Given the description of an element on the screen output the (x, y) to click on. 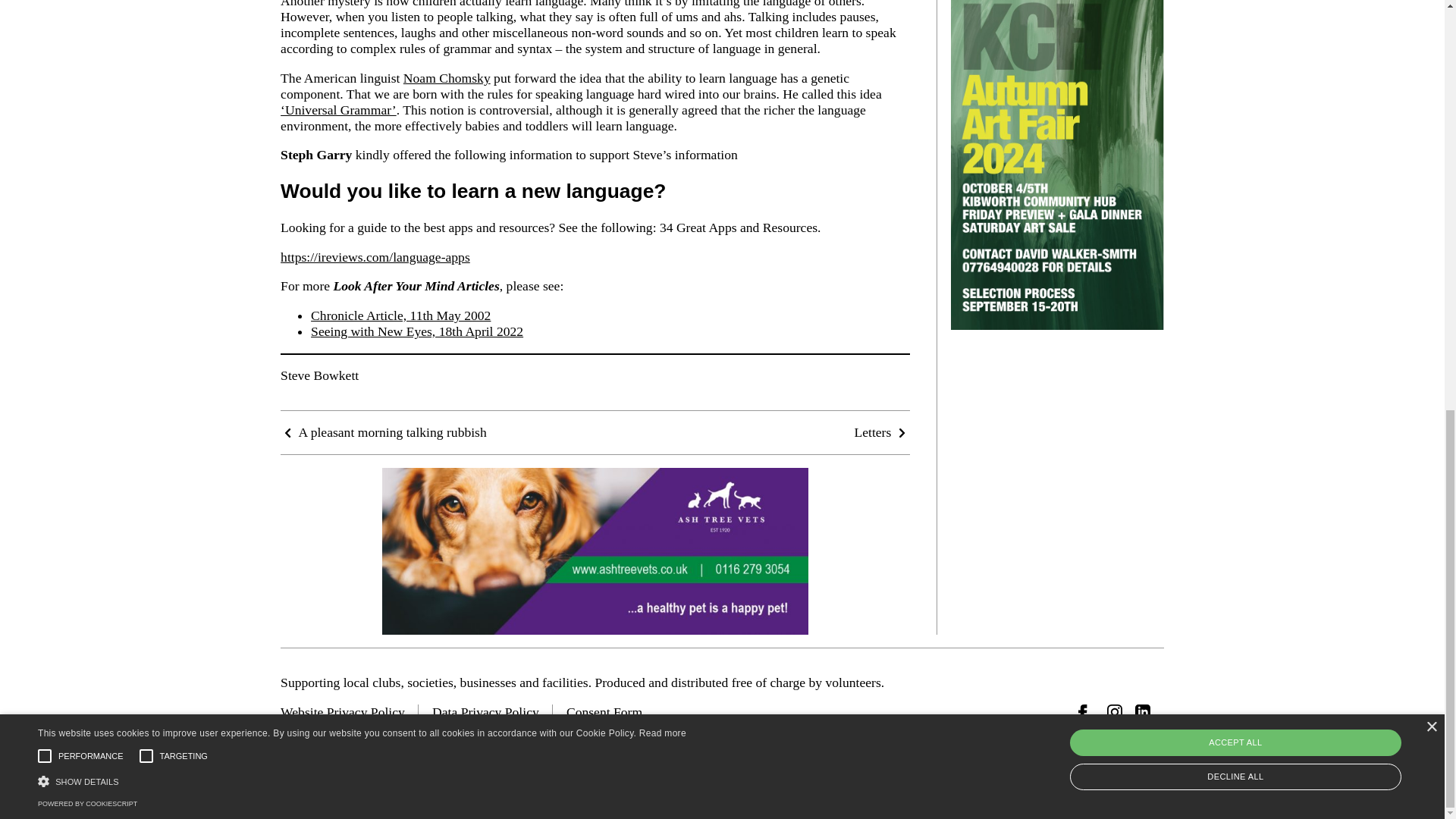
Letters (880, 432)
A pleasant morning talking rubbish (383, 432)
Chronicle Article, 11th May 2002 (400, 314)
Connect with us on LinkedIn (1142, 711)
Like us on Facebook (1085, 711)
Noam Chomsky (446, 77)
Follow us on Instagram (1114, 711)
Seeing with New Eyes, 18th April 2022 (416, 331)
